Given the description of an element on the screen output the (x, y) to click on. 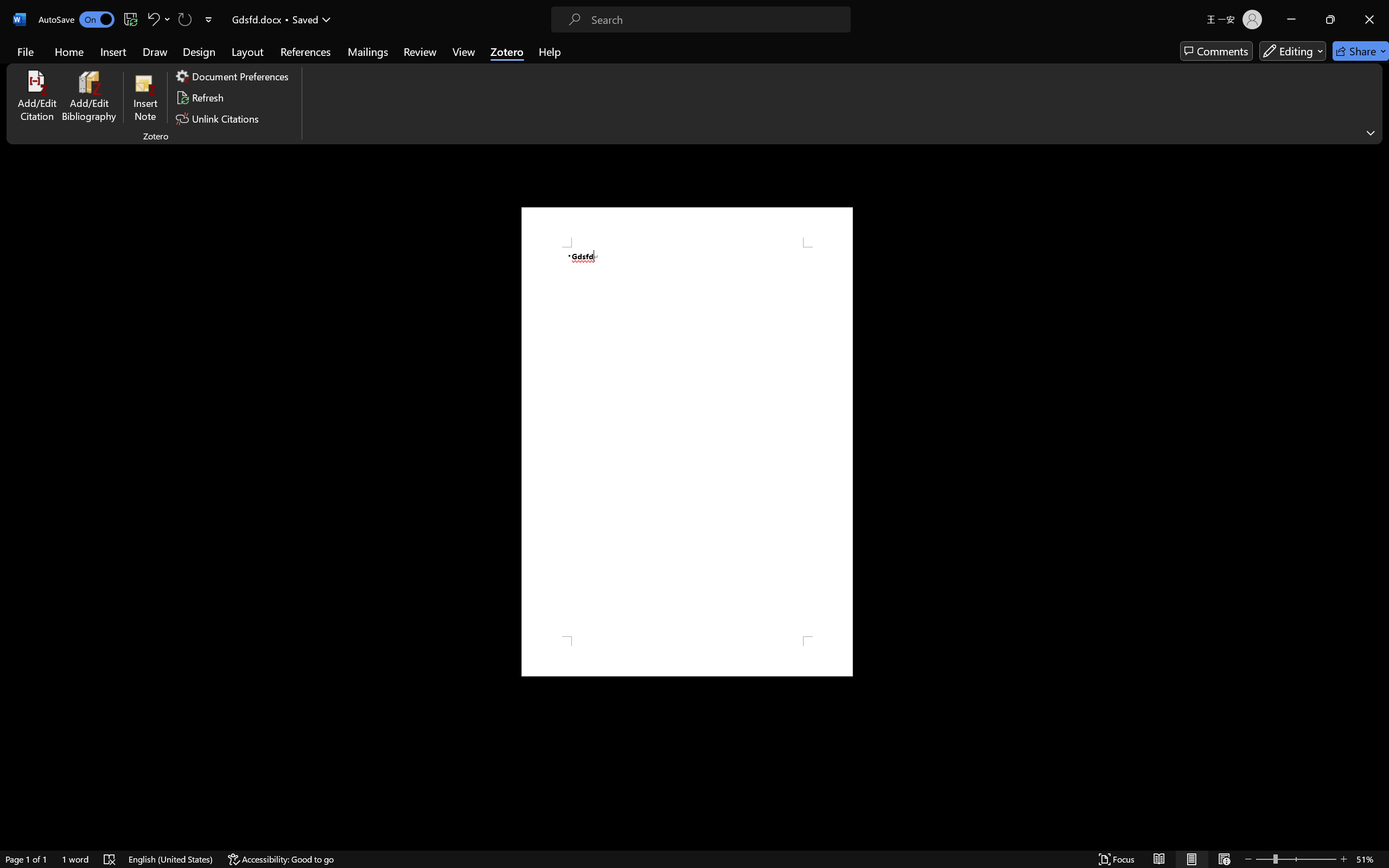
Page 1 content (686, 441)
